Given the description of an element on the screen output the (x, y) to click on. 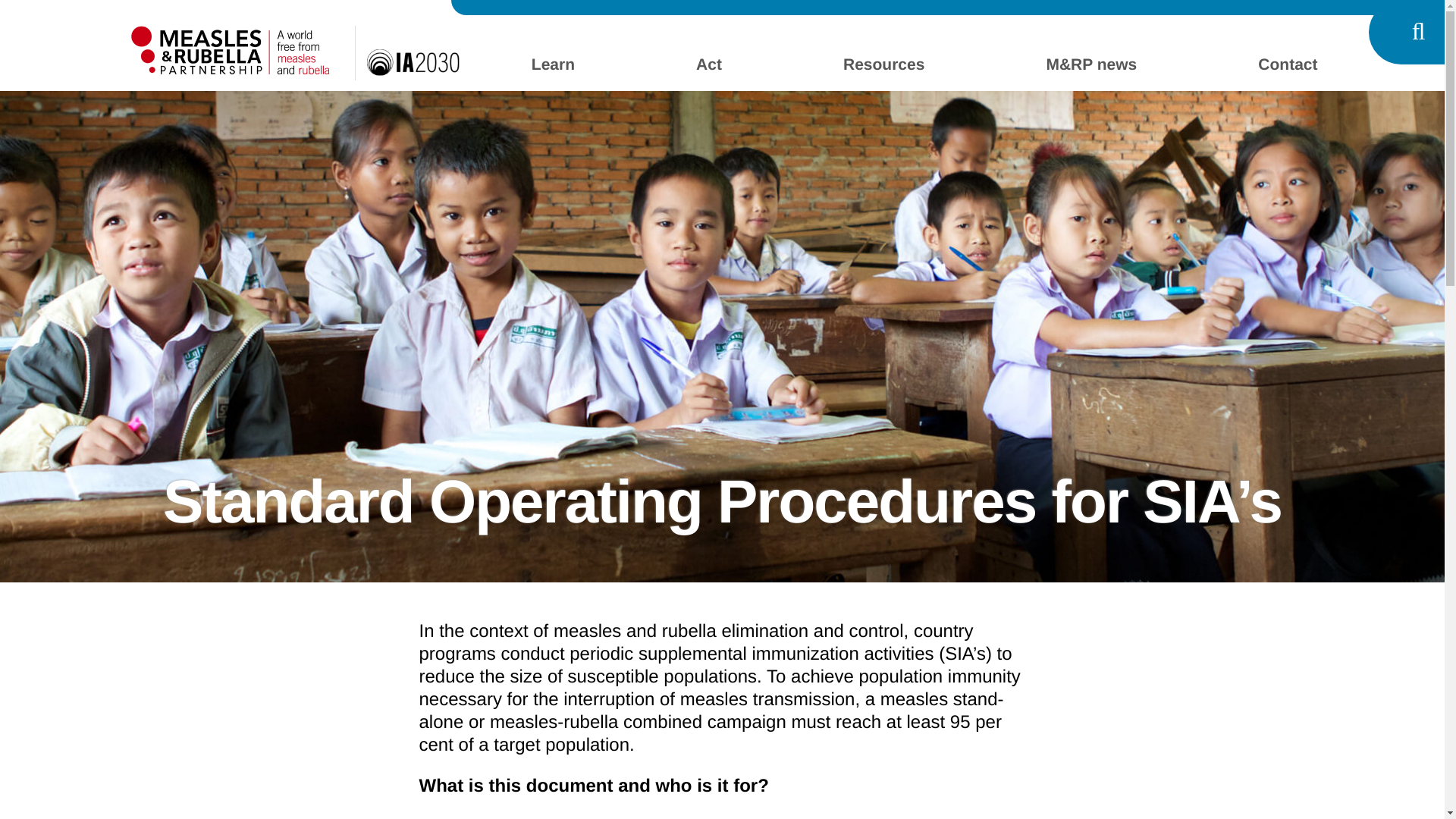
Learn (553, 66)
Act (708, 66)
